Given the description of an element on the screen output the (x, y) to click on. 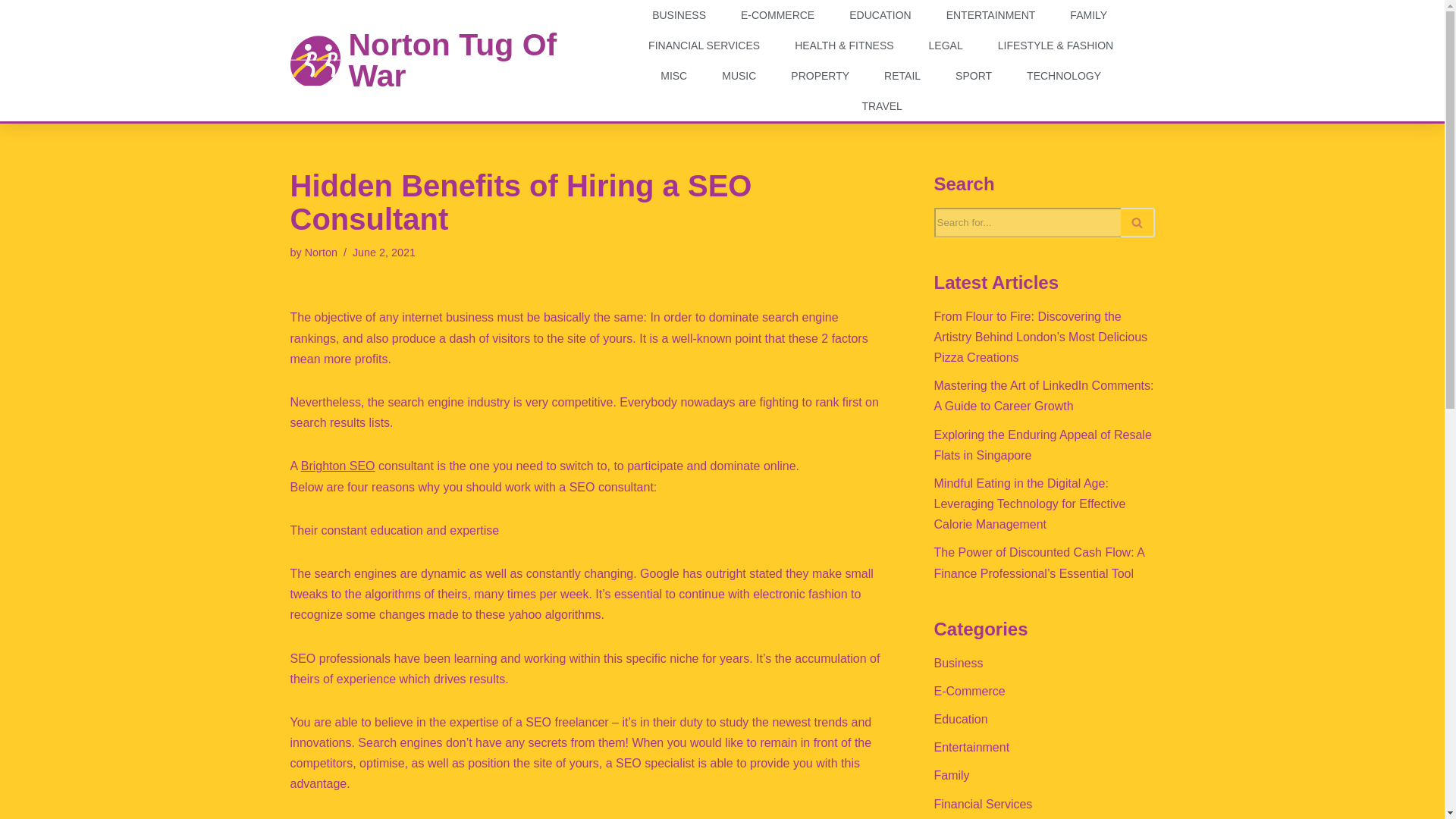
TRAVEL (881, 105)
Posts by Norton (320, 252)
MISC (673, 75)
PROPERTY (820, 75)
ENTERTAINMENT (991, 15)
Norton (320, 252)
E-COMMERCE (777, 15)
Norton Tug Of War (451, 60)
Brighton SEO (338, 465)
